Given the description of an element on the screen output the (x, y) to click on. 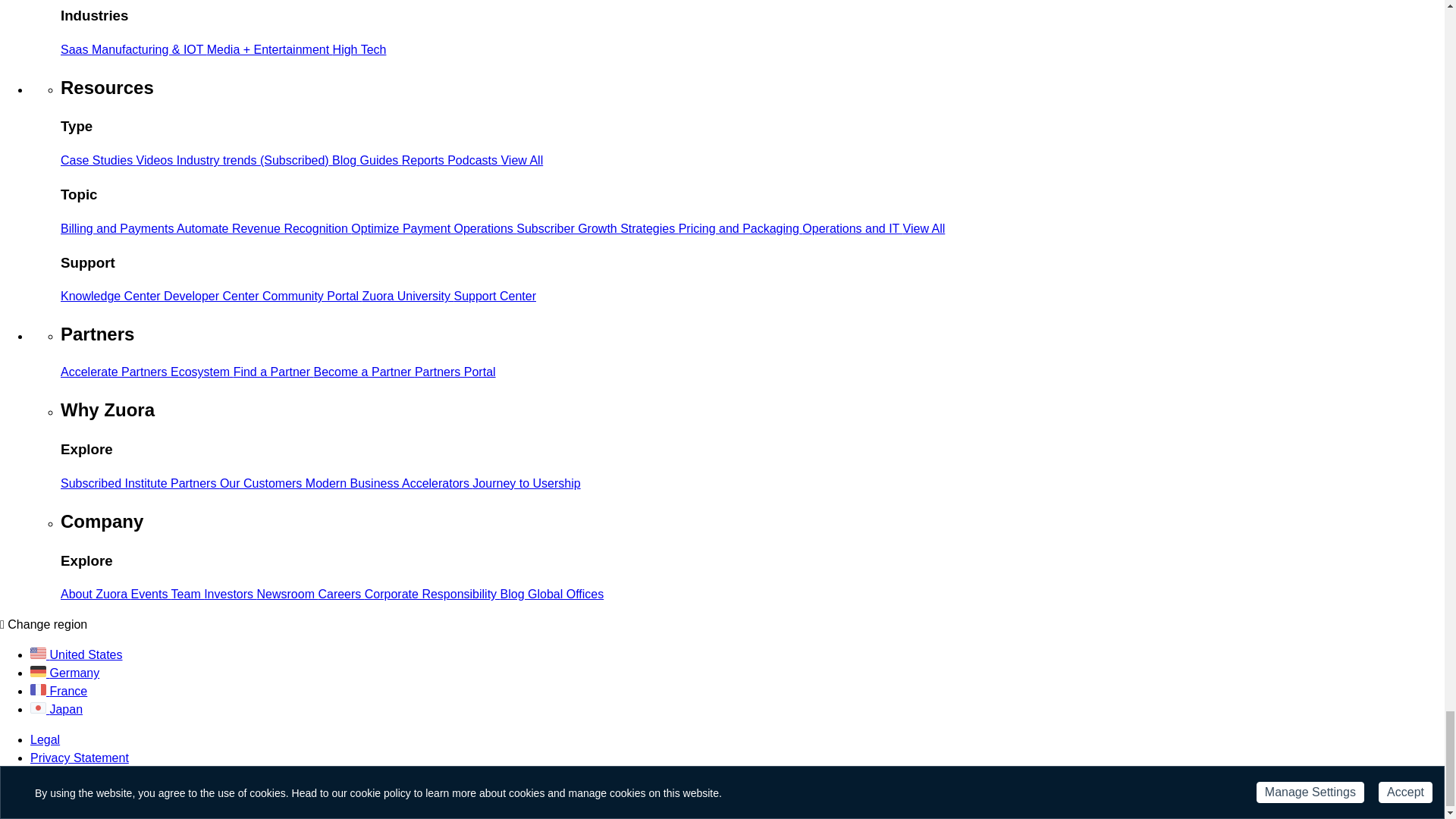
Cookie Preferences (83, 790)
